Given the description of an element on the screen output the (x, y) to click on. 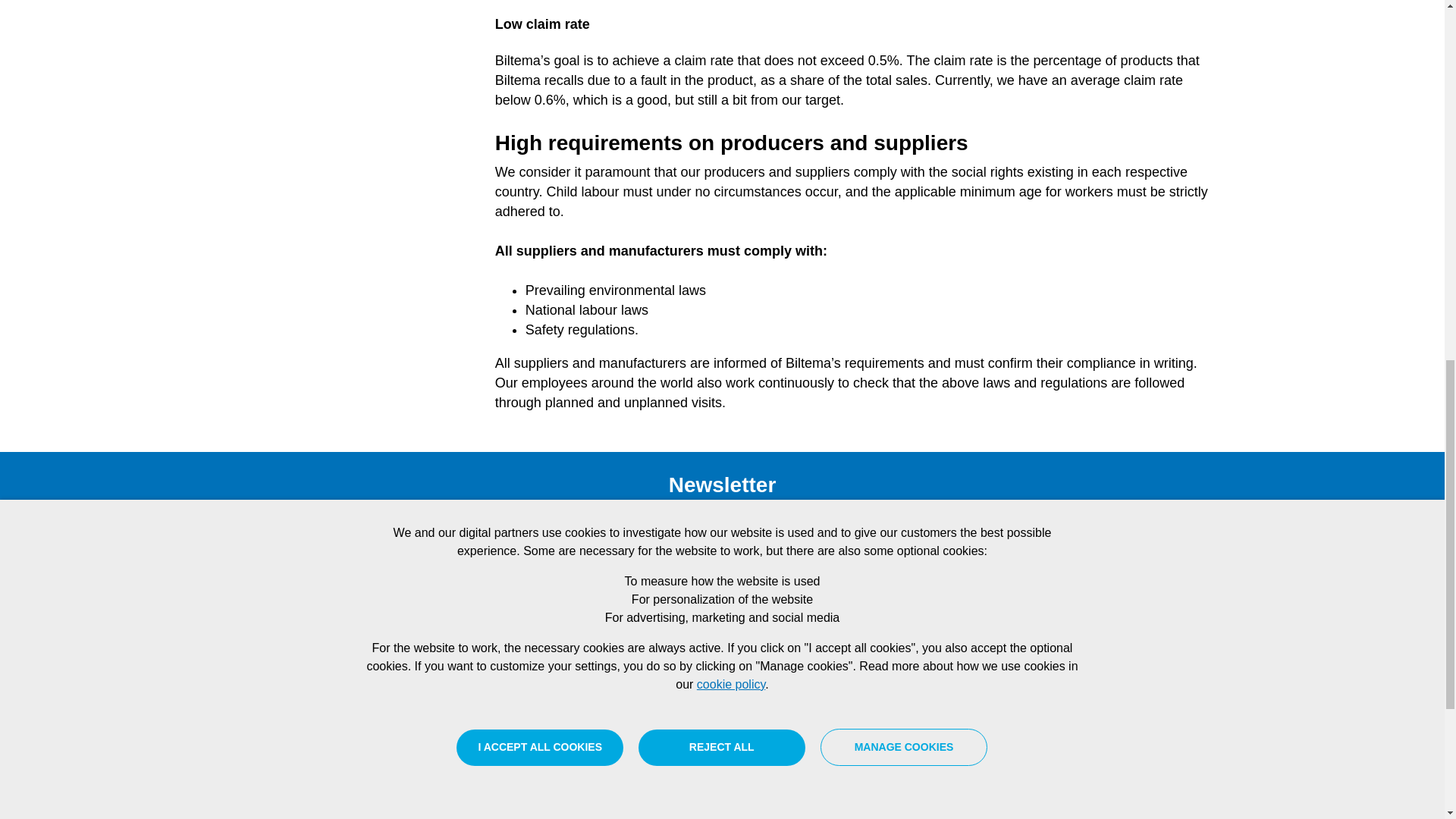
Newsletter (454, 805)
Biltema card (636, 787)
Send (972, 581)
Giftcard (636, 762)
